Given the description of an element on the screen output the (x, y) to click on. 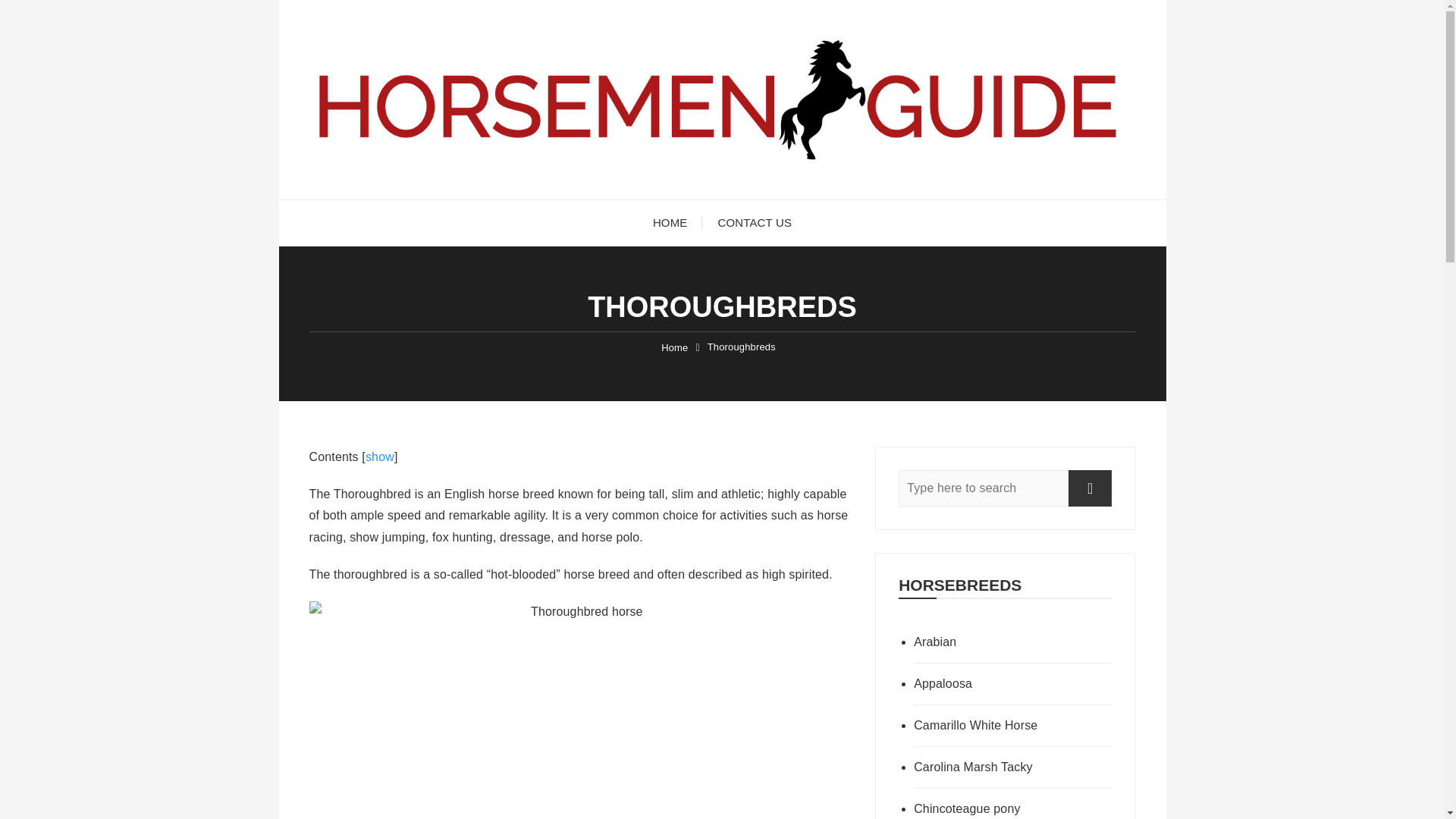
Home (674, 347)
Appaloosa (1013, 684)
Chincoteague pony (1013, 803)
Camarillo White Horse (1013, 725)
Carolina Marsh Tacky (1013, 767)
show (379, 456)
Arabian (1013, 642)
CONTACT US (753, 222)
HOME (670, 222)
